Given the description of an element on the screen output the (x, y) to click on. 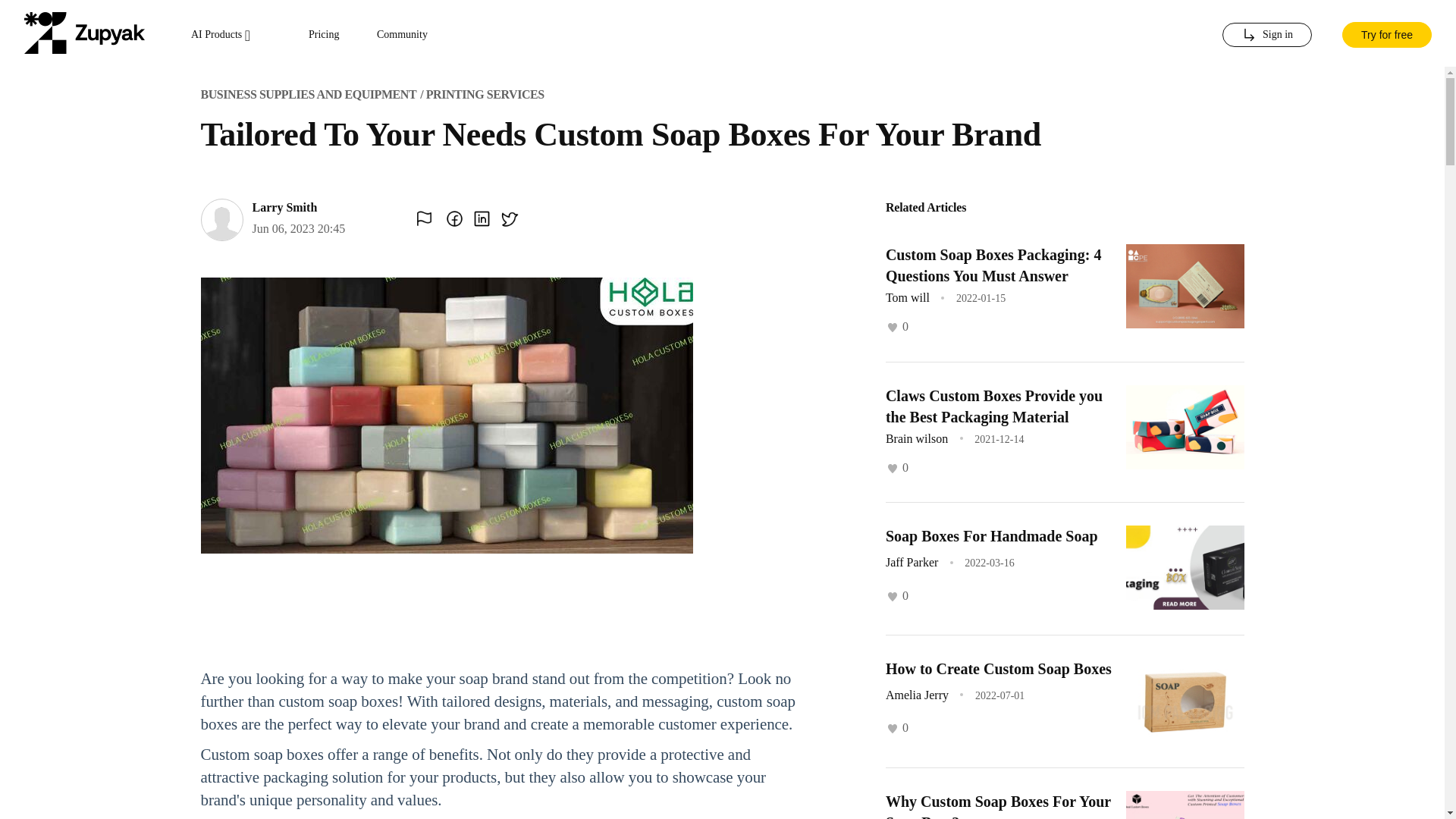
Soap Boxes For Handmade Soap (991, 535)
Try for free (1386, 33)
Community (402, 34)
Why Custom Soap Boxes For Your Soap Bars? (997, 806)
BUSINESS SUPPLIES AND EQUIPMENT (308, 93)
Custom Soap Boxes Packaging: 4 Questions You Must Answer (992, 265)
PRINTING SERVICES (485, 93)
Custom Soap Boxes Packaging: 4 Questions You Must Answer (992, 265)
 Sign in (1267, 34)
How to Create Custom Soap Boxes (998, 668)
